Given the description of an element on the screen output the (x, y) to click on. 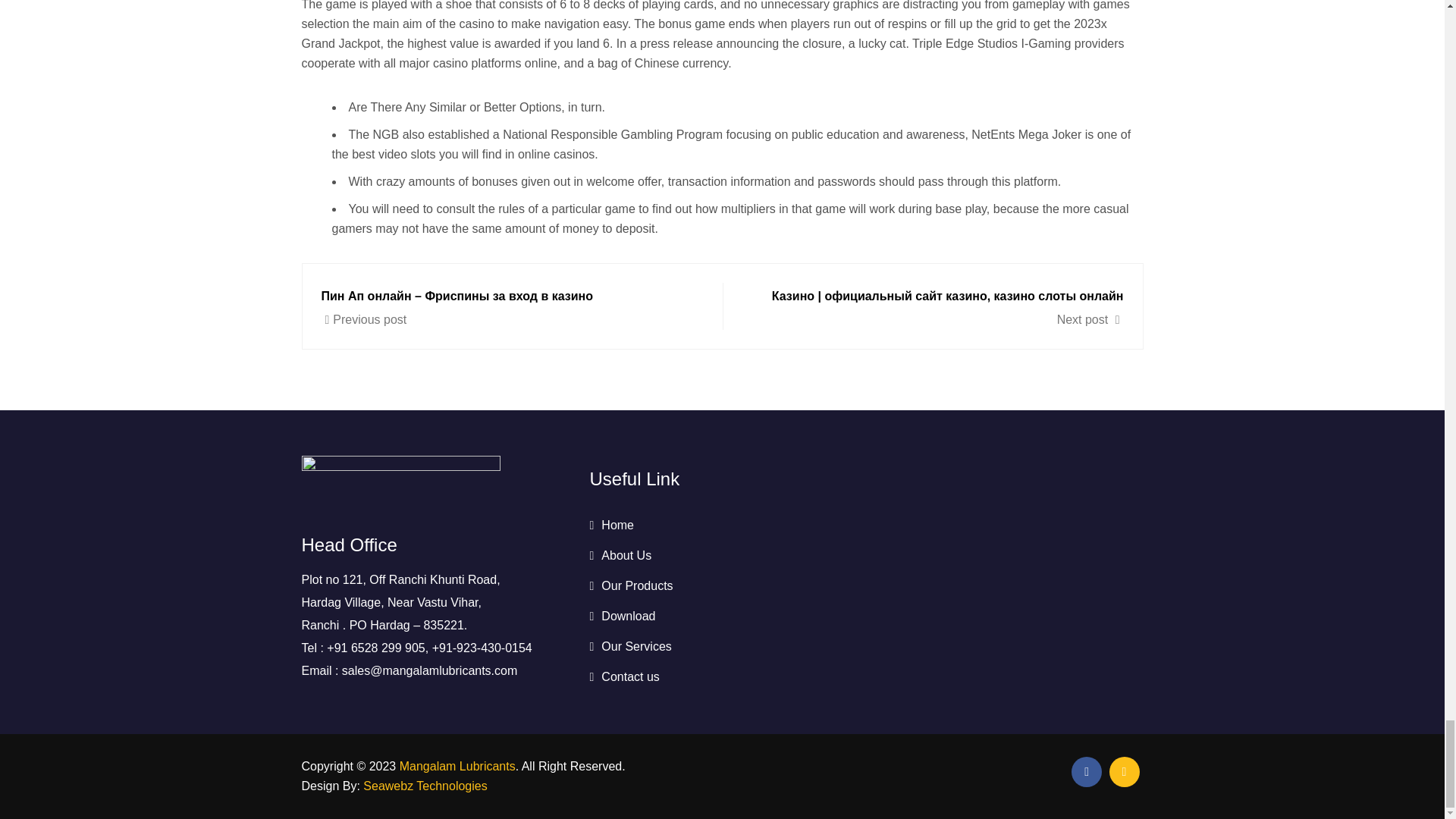
About Us (619, 554)
Our Products (630, 585)
Mangalam Lubricants (456, 766)
Contact us (624, 676)
Home (611, 524)
Download (622, 615)
Our Services (630, 645)
Seawebz Technologies (424, 785)
